Given the description of an element on the screen output the (x, y) to click on. 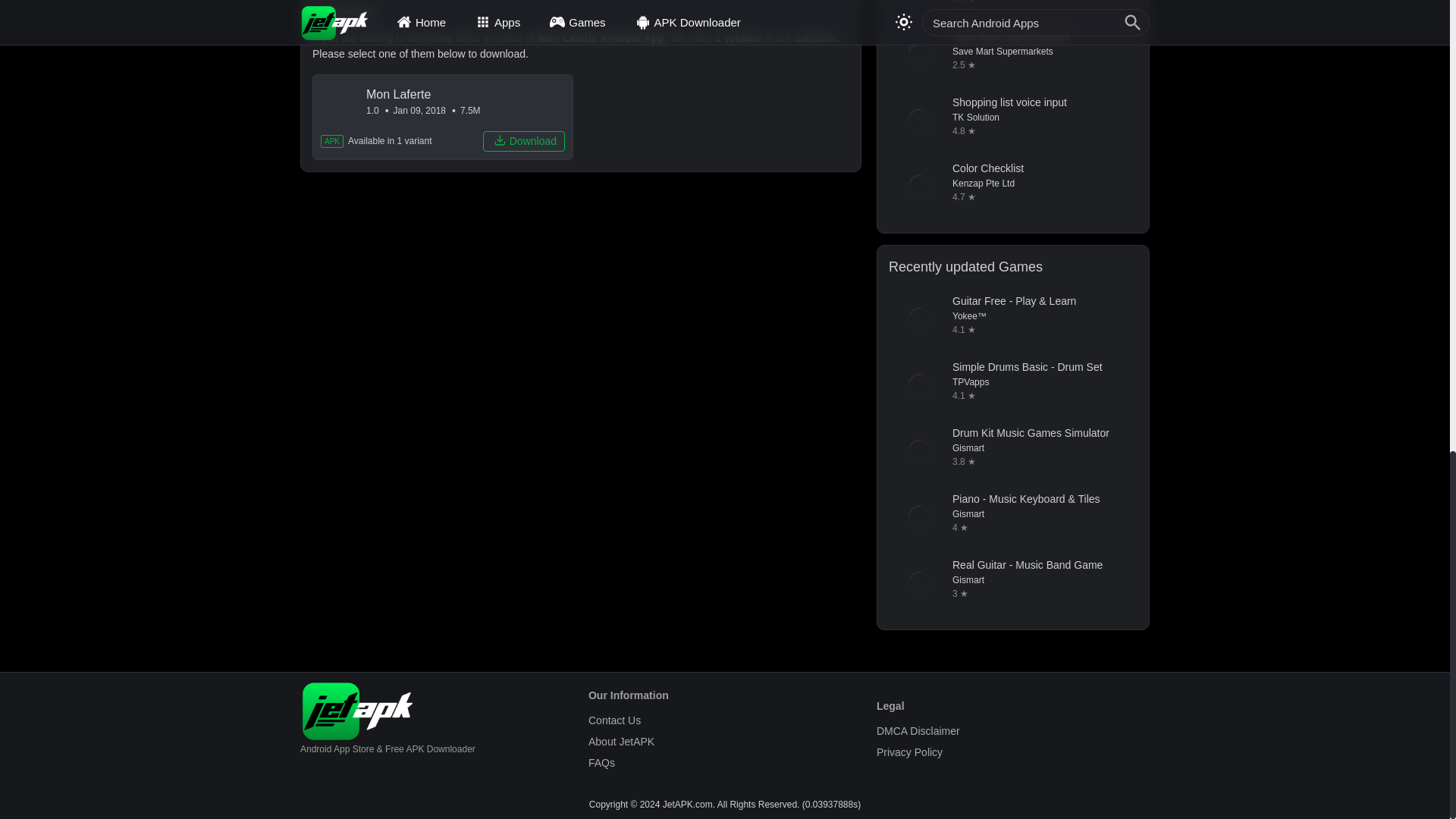
Save Mart Supermarkets 4.8.3 Android APK (1012, 54)
Mon Laferte 1.0 older version APK (443, 116)
Shopping list voice input Latest Android APK (1012, 120)
Color Checklist 1.8 Android APK (1012, 186)
Dillons 71.3 Android APK (1012, 9)
Drum Kit Music Games Simulator 3.45.2 Android APK (1012, 451)
Simple Drums Basic - Drum Set 1.3.9 Android APK (1012, 384)
